Given the description of an element on the screen output the (x, y) to click on. 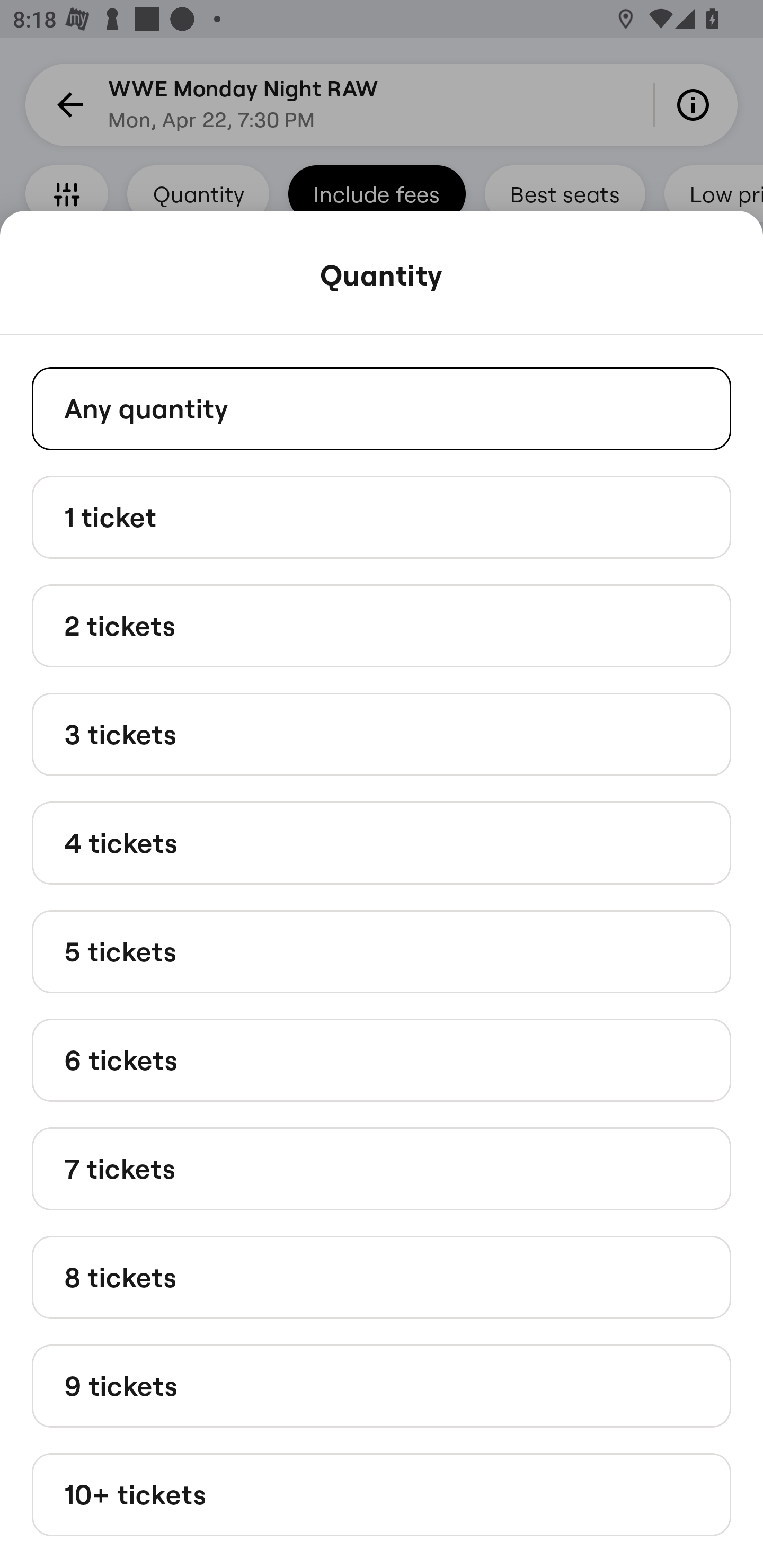
Any quantity (381, 408)
1 ticket (381, 516)
2 tickets (381, 625)
3 tickets (381, 734)
4 tickets (381, 842)
5 tickets (381, 950)
6 tickets (381, 1060)
7 tickets (381, 1168)
8 tickets (381, 1276)
9 tickets (381, 1384)
10+ tickets (381, 1494)
